Given the description of an element on the screen output the (x, y) to click on. 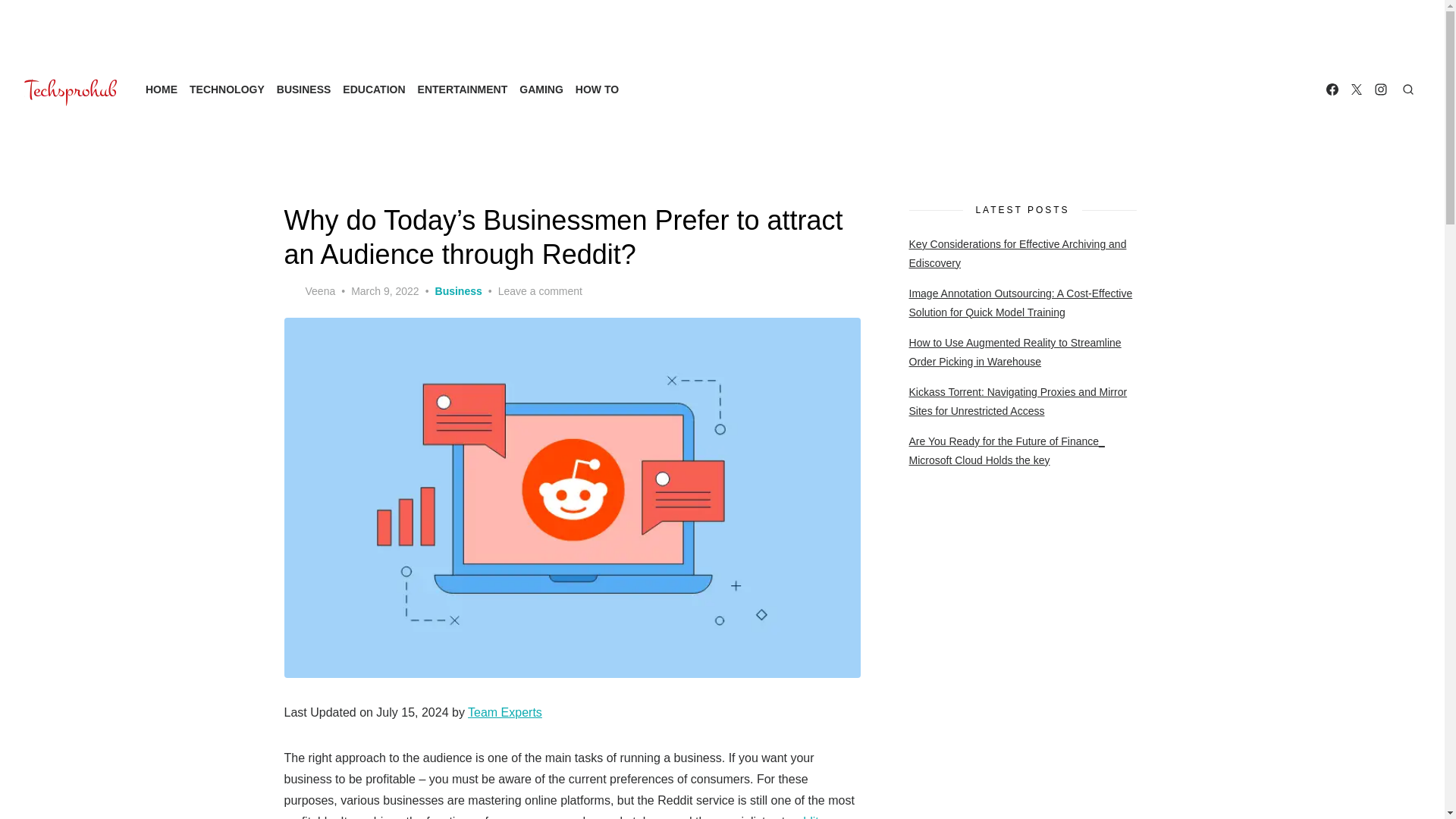
GAMING (541, 88)
Business (458, 291)
ENTERTAINMENT (462, 88)
Team Experts (504, 712)
March 9, 2022 (384, 291)
HOME (161, 88)
EDUCATION (373, 88)
TECHNOLOGY (226, 88)
Leave a comment (539, 291)
Veena (308, 291)
BUSINESS (303, 88)
HOW TO (596, 88)
